Given the description of an element on the screen output the (x, y) to click on. 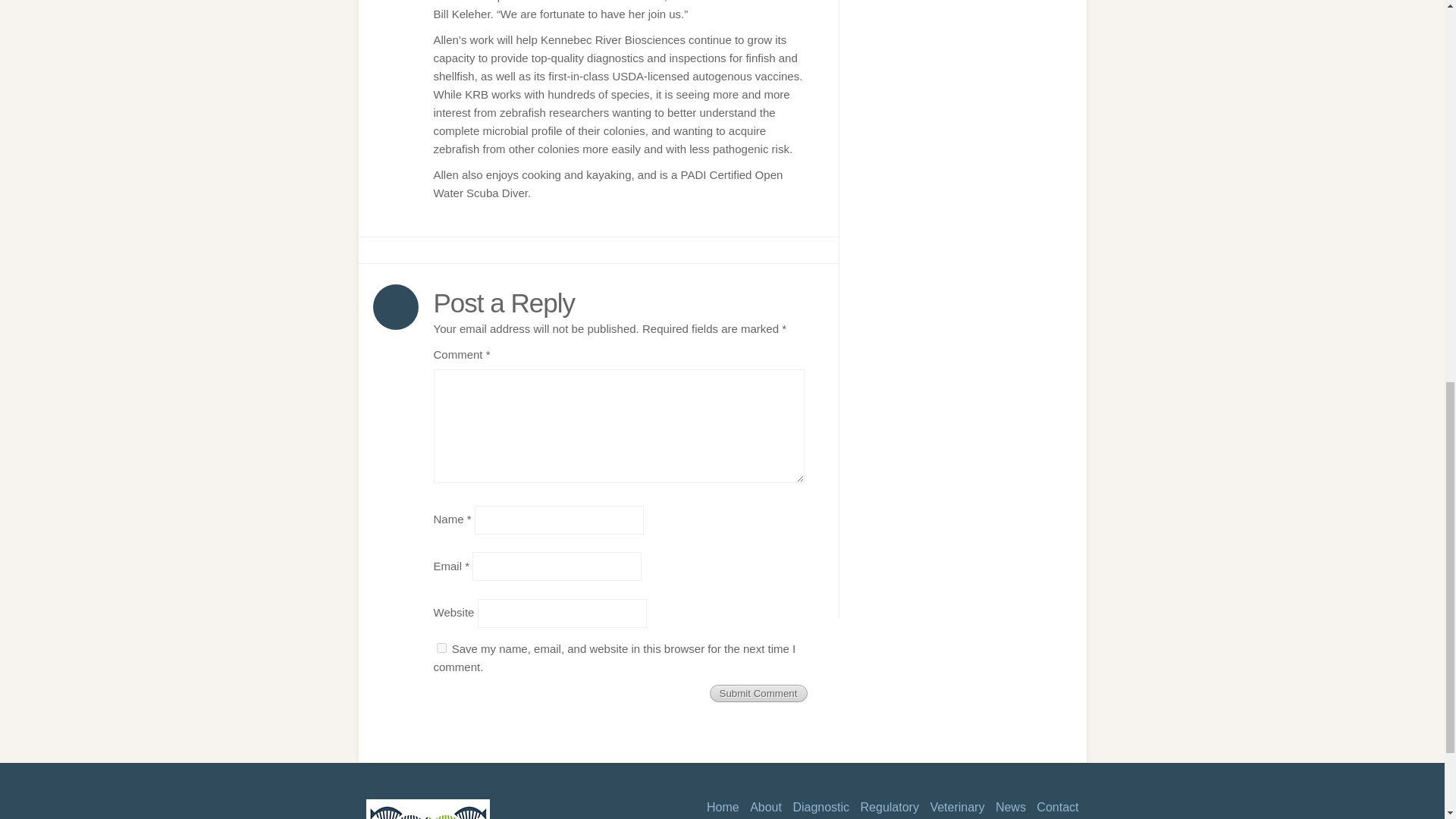
Submit Comment (759, 692)
Home (718, 807)
Regulatory (885, 807)
yes (441, 647)
Veterinary (952, 807)
News (1007, 807)
About (761, 807)
Contact (1053, 807)
Submit Comment (759, 692)
Diagnostic (816, 807)
